Given the description of an element on the screen output the (x, y) to click on. 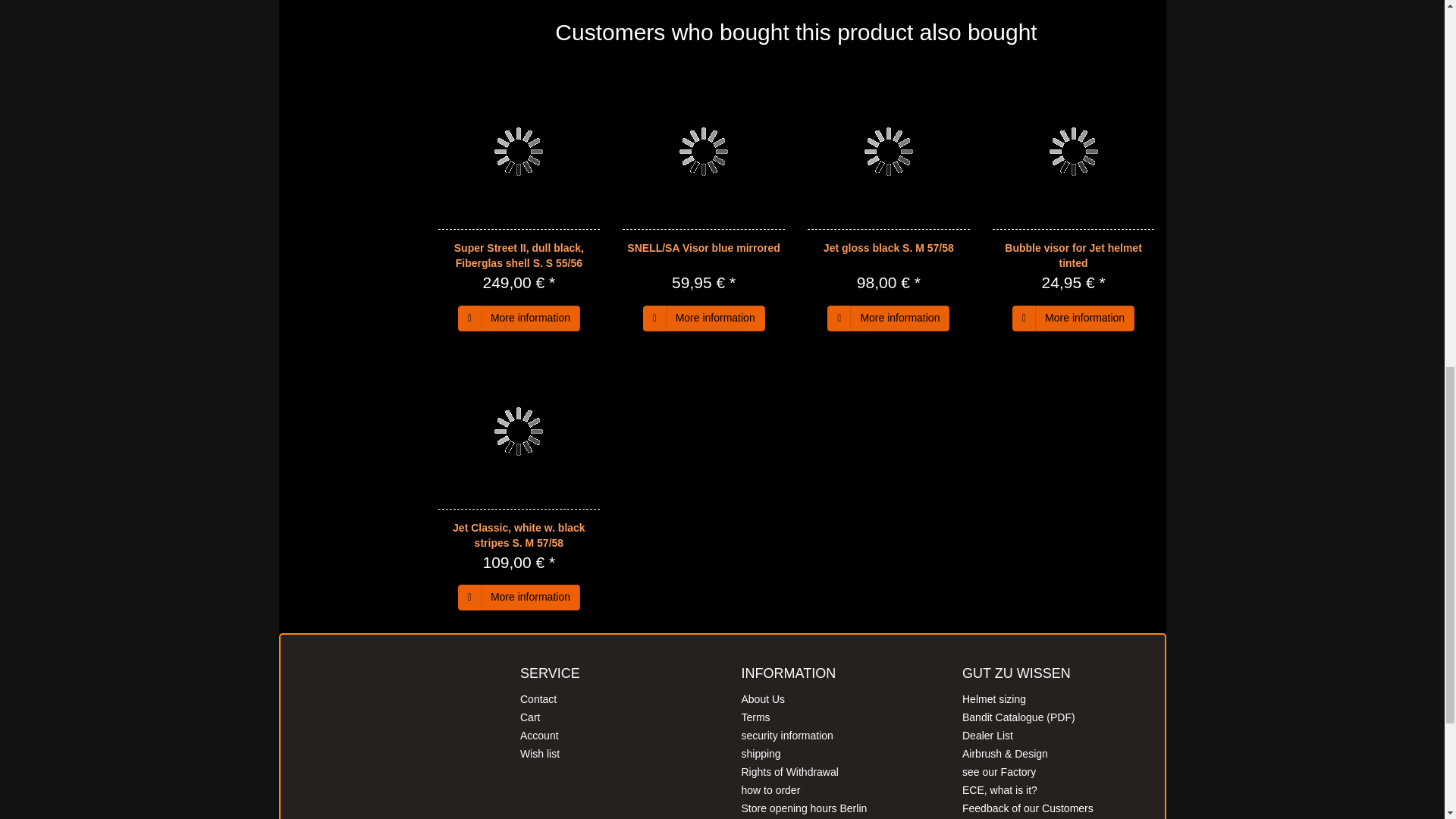
To cart (469, 318)
Bubble visor for Jet helmet tinted (1072, 255)
Bubble visor for Jet helmet tinted (1073, 151)
To cart (1023, 318)
To cart (838, 318)
To cart (654, 318)
